Given the description of an element on the screen output the (x, y) to click on. 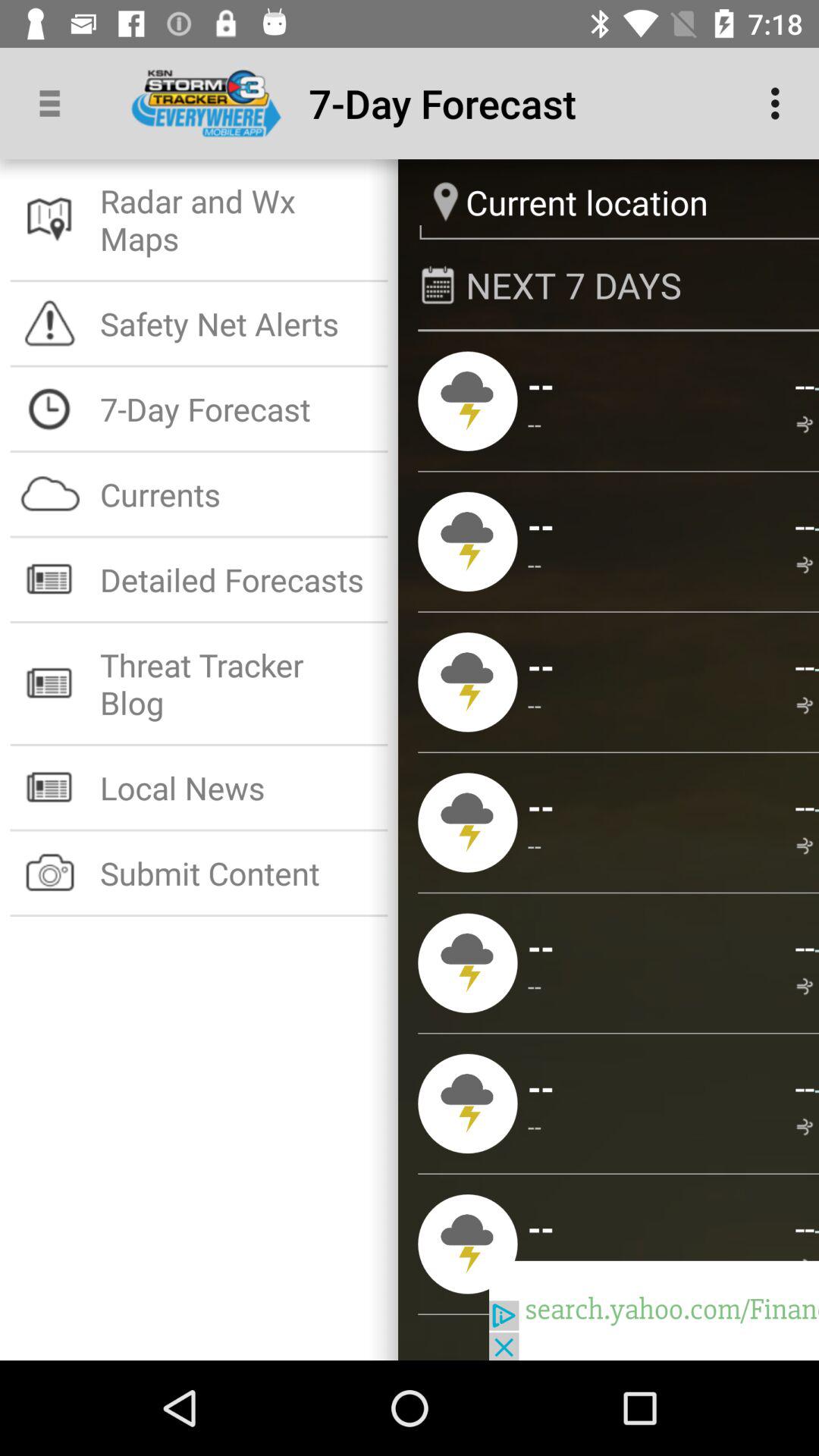
select the -- item (804, 665)
